Given the description of an element on the screen output the (x, y) to click on. 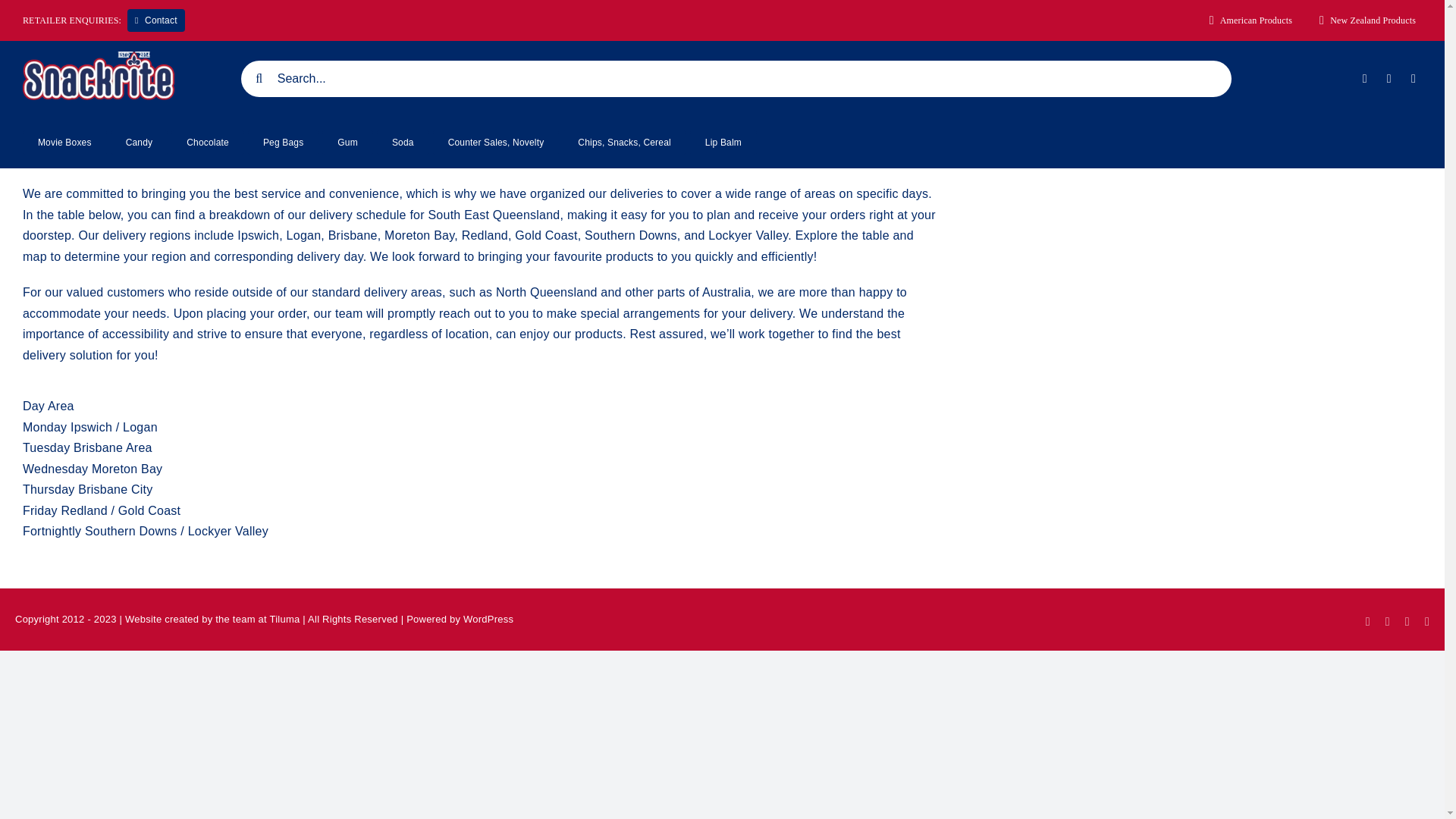
Log In (1347, 255)
Contact (156, 20)
Chocolate (207, 142)
Candy (139, 142)
Lip Balm (723, 142)
Soda (403, 142)
Counter Sales, Novelty (495, 142)
American Products (1251, 20)
New Zealand Products (1367, 20)
Gum (346, 142)
Peg Bags (282, 142)
Chips, Snacks, Cereal (623, 142)
Movie Boxes (64, 142)
